Given the description of an element on the screen output the (x, y) to click on. 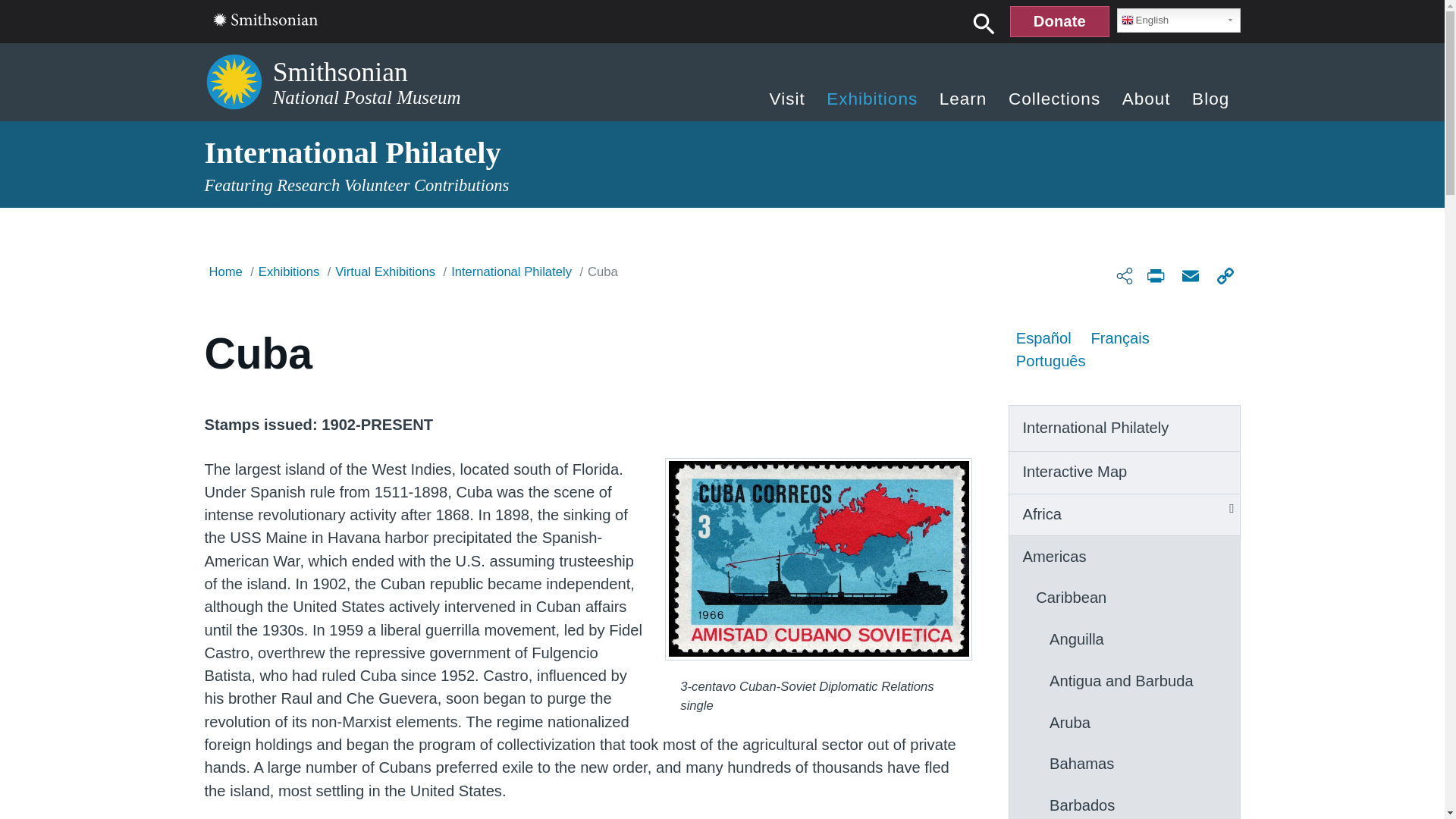
Search (984, 23)
English (1178, 20)
Donate (1059, 21)
